Given the description of an element on the screen output the (x, y) to click on. 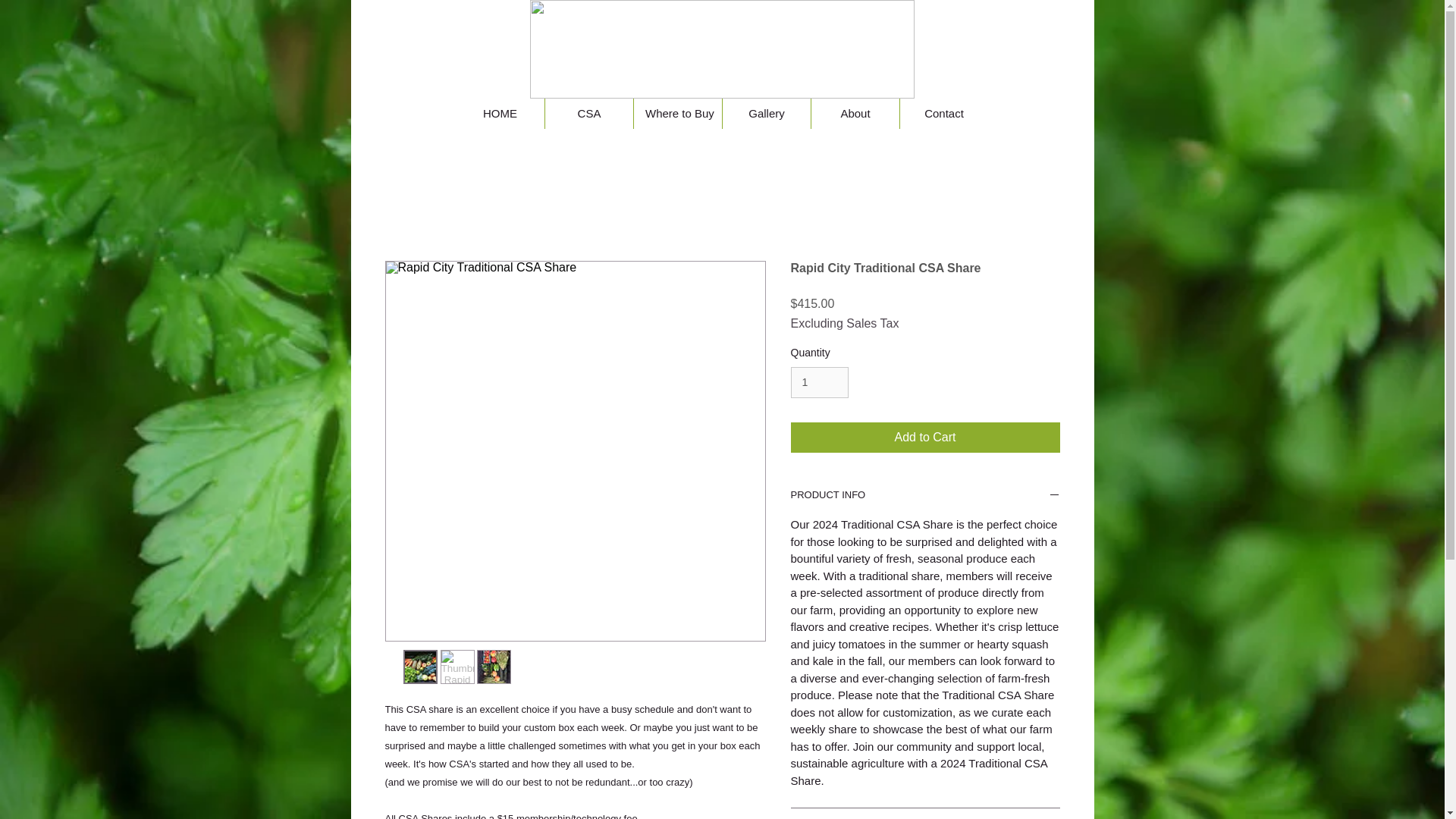
Add to Cart (924, 437)
HOME (499, 113)
Gallery (766, 113)
PRODUCT INFO (924, 496)
1 (818, 382)
Contact (943, 113)
Where to Buy (677, 113)
CSA (588, 113)
About (854, 113)
